Given the description of an element on the screen output the (x, y) to click on. 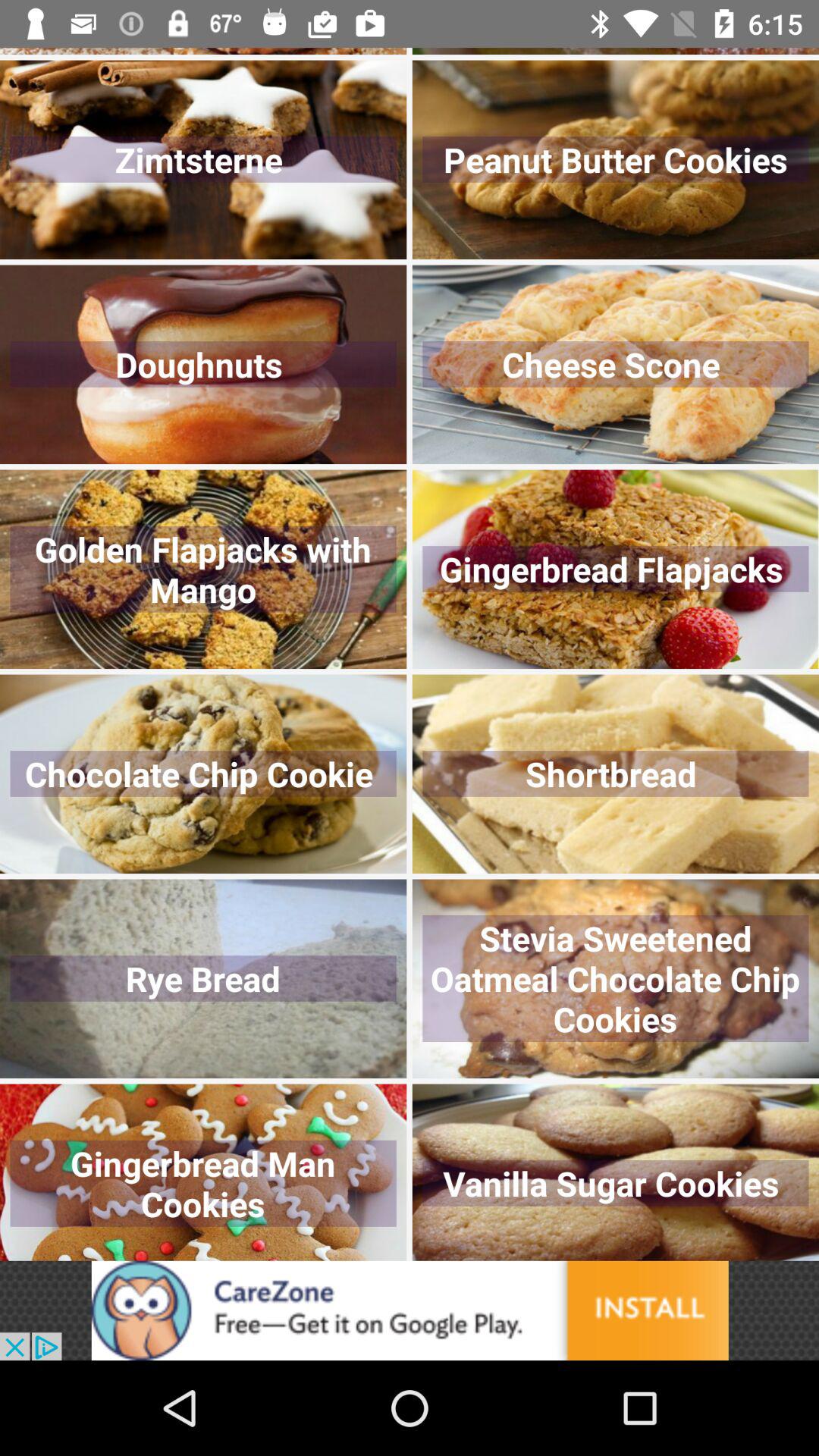
click on the image which says peanut butter cookies (615, 160)
